Given the description of an element on the screen output the (x, y) to click on. 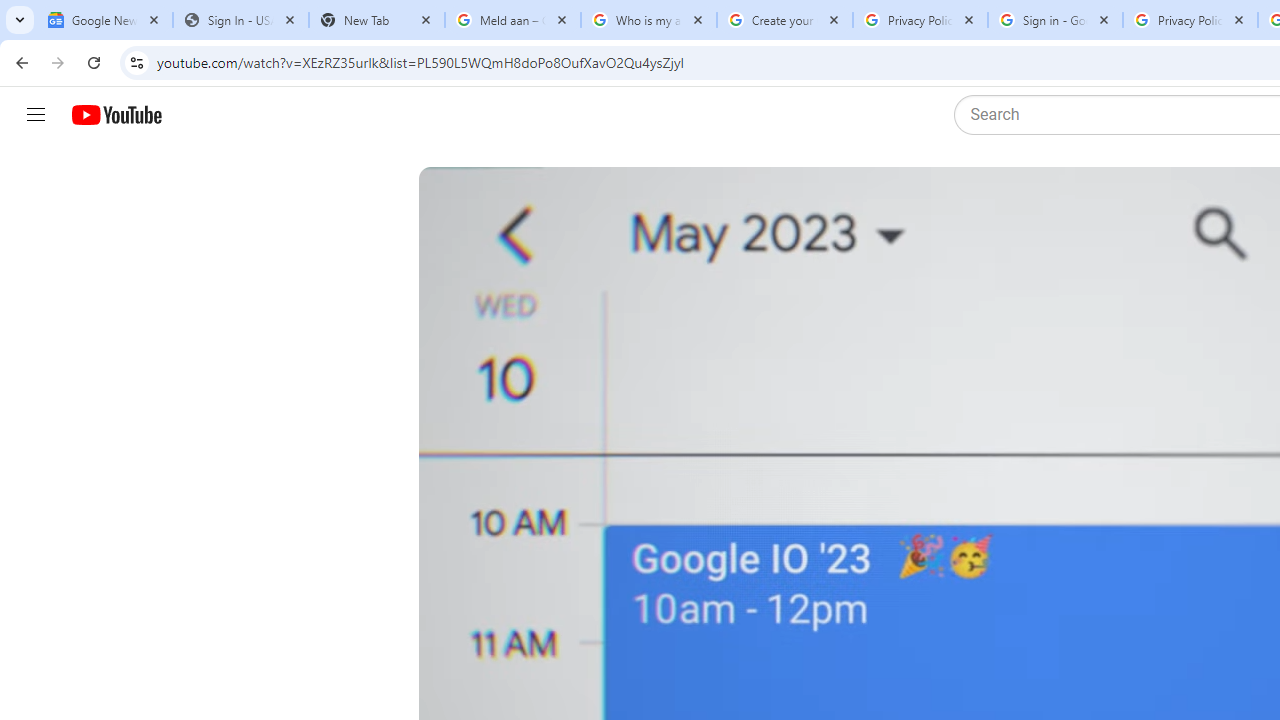
Sign in - Google Accounts (1055, 20)
YouTube Home (116, 115)
New Tab (376, 20)
Create your Google Account (784, 20)
Guide (35, 115)
